Given the description of an element on the screen output the (x, y) to click on. 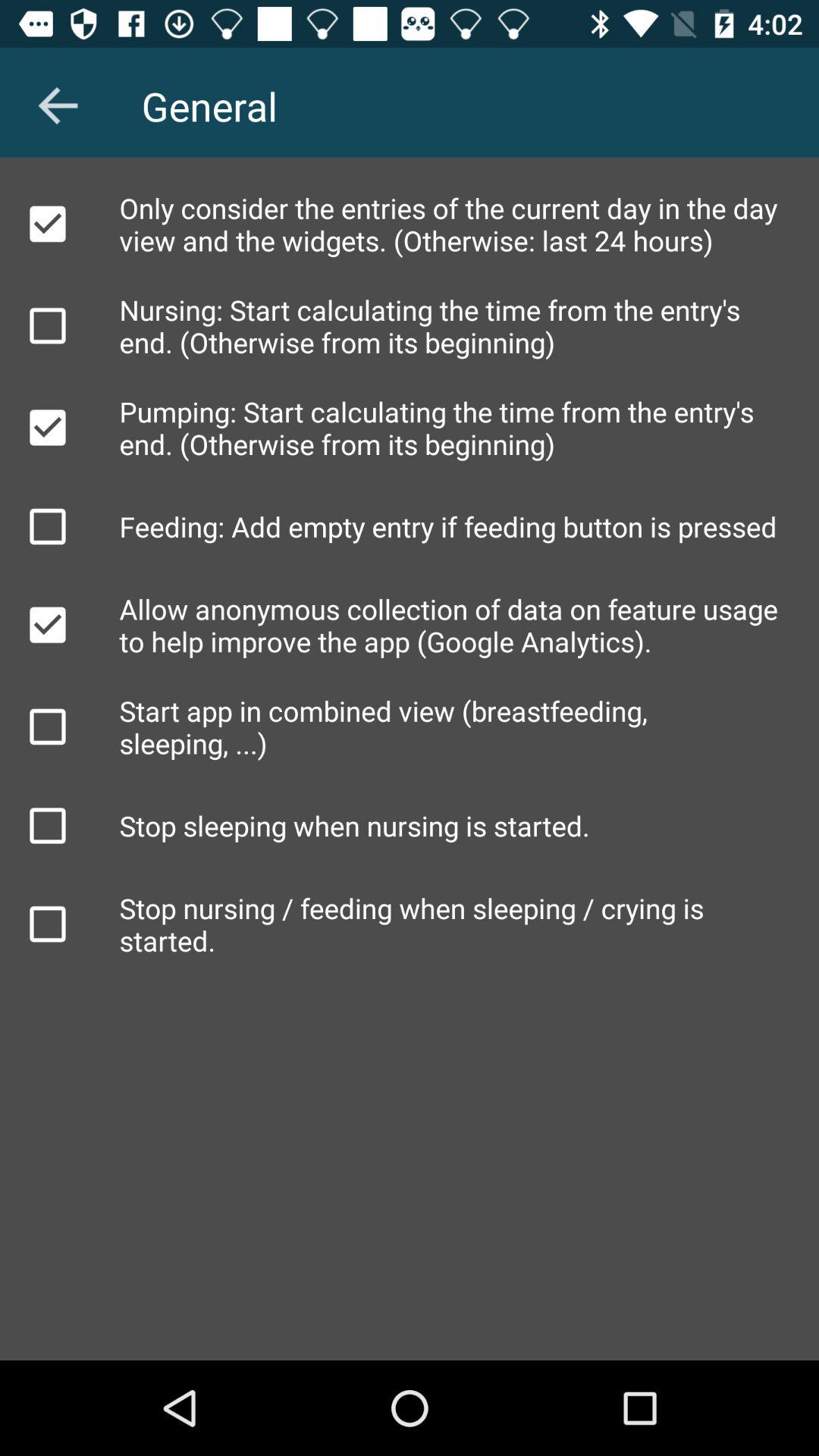
select the line (47, 223)
